Given the description of an element on the screen output the (x, y) to click on. 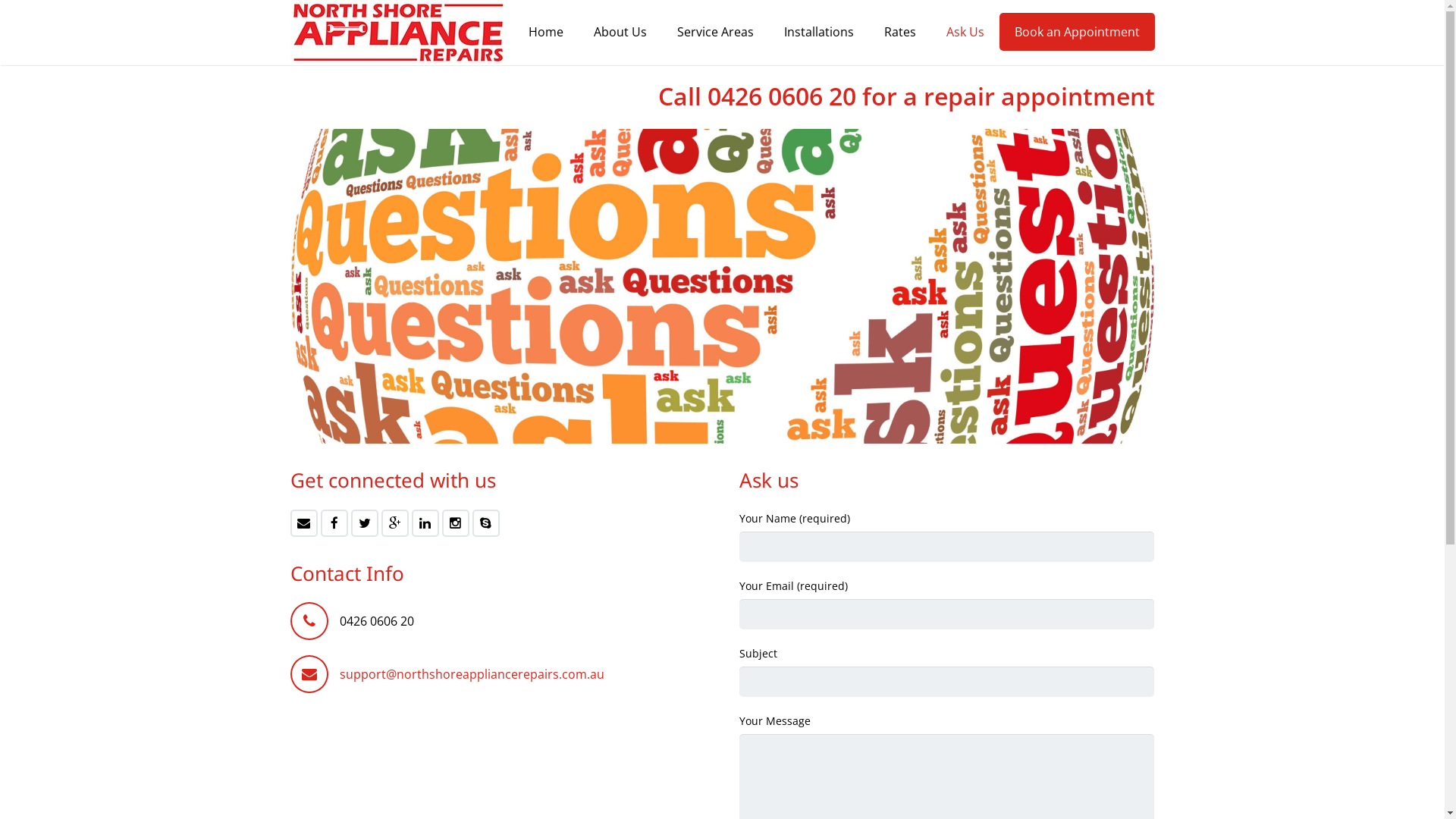
Service Areas Element type: text (714, 31)
Home Element type: text (544, 31)
About Us Element type: text (619, 31)
Rates Element type: text (900, 31)
Ask Us Element type: text (965, 31)
Installations Element type: text (818, 31)
Book an Appointment Element type: text (1076, 31)
support@northshoreappliancerepairs.com.au Element type: text (471, 673)
